Given the description of an element on the screen output the (x, y) to click on. 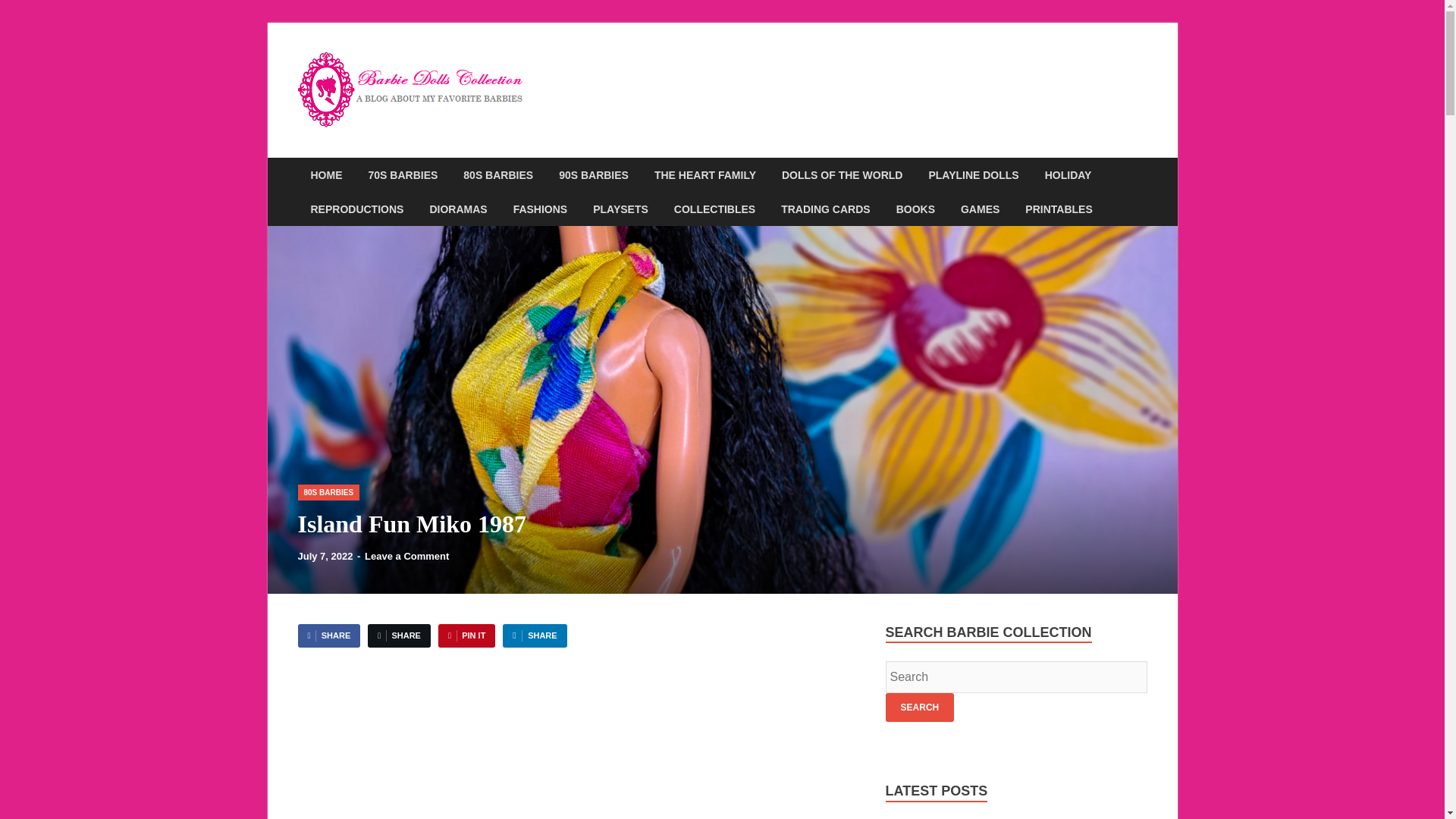
Leave a Comment (406, 555)
My Barbie Dolls Collection (708, 73)
SHARE (328, 635)
HOME (326, 174)
Advertisement (575, 742)
GAMES (979, 208)
PLAYLINE DOLLS (972, 174)
90S BARBIES (594, 174)
BOOKS (915, 208)
REPRODUCTIONS (356, 208)
SHARE (534, 635)
TRADING CARDS (825, 208)
FASHIONS (540, 208)
80S BARBIES (327, 492)
PLAYSETS (620, 208)
